Given the description of an element on the screen output the (x, y) to click on. 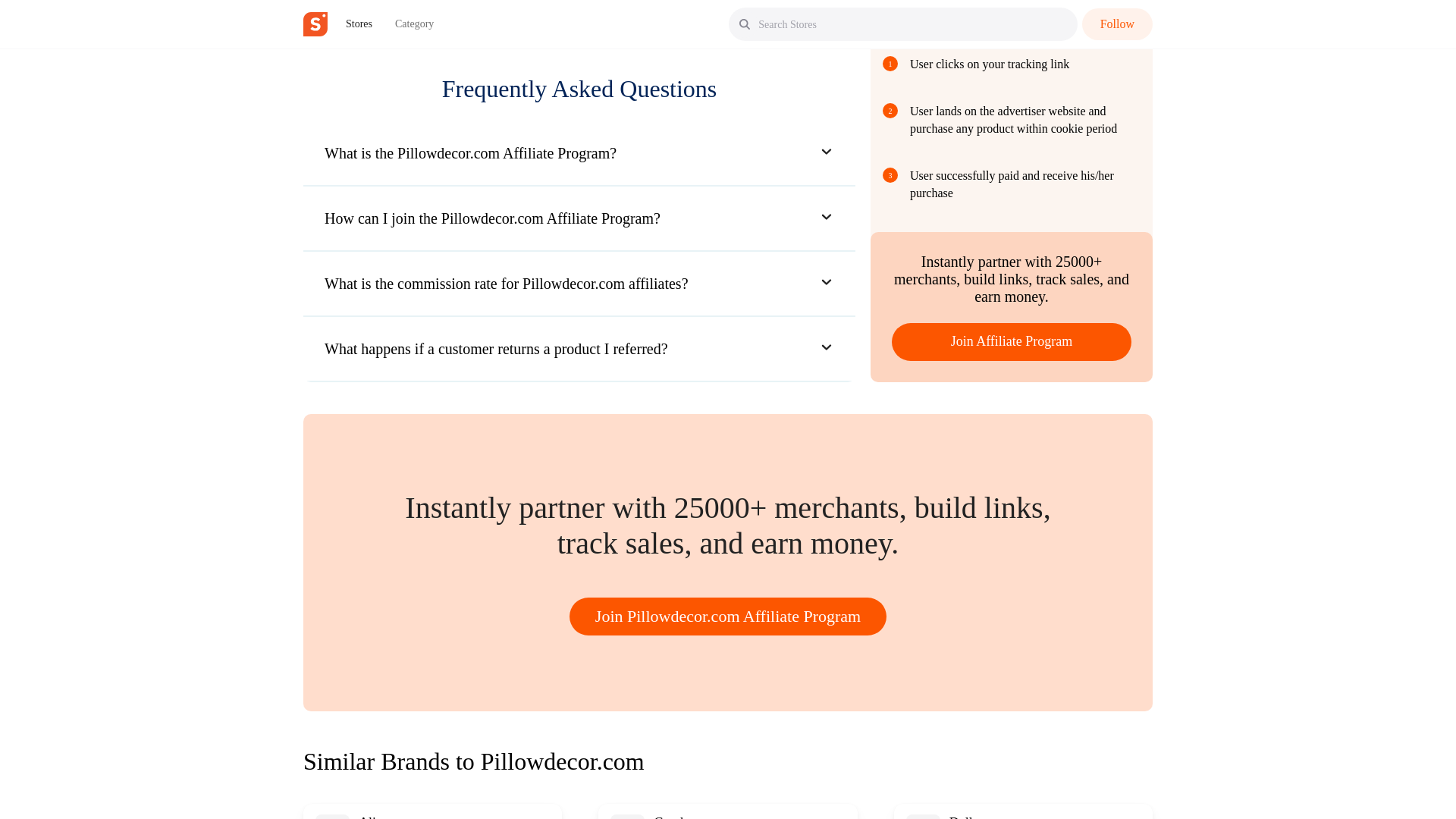
Join Pillowdecor.com Affiliate Program (727, 616)
Dell.com (973, 816)
Aliexpress.com (401, 816)
Gearbest.com (691, 816)
Join Pillowdecor.com Affiliate Program (727, 615)
